Given the description of an element on the screen output the (x, y) to click on. 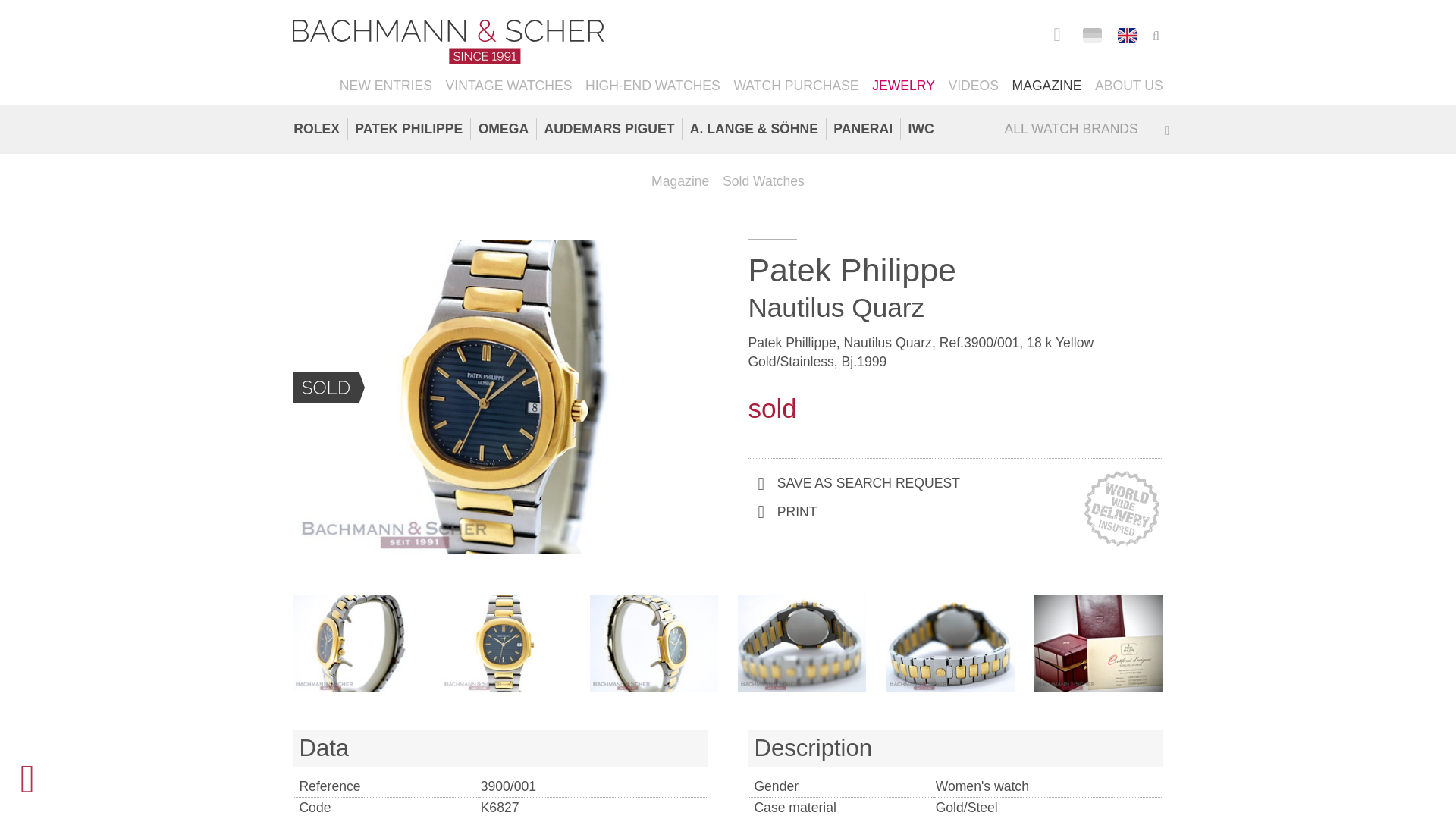
About us (1129, 86)
DEU (1092, 35)
JEWELRY (904, 86)
VINTAGE WATCHES (508, 86)
New Entries (385, 86)
NEW ENTRIES (385, 86)
Jewelry (904, 86)
ABOUT US (1129, 86)
VIDEOS (972, 86)
Instagram (1056, 33)
